Given the description of an element on the screen output the (x, y) to click on. 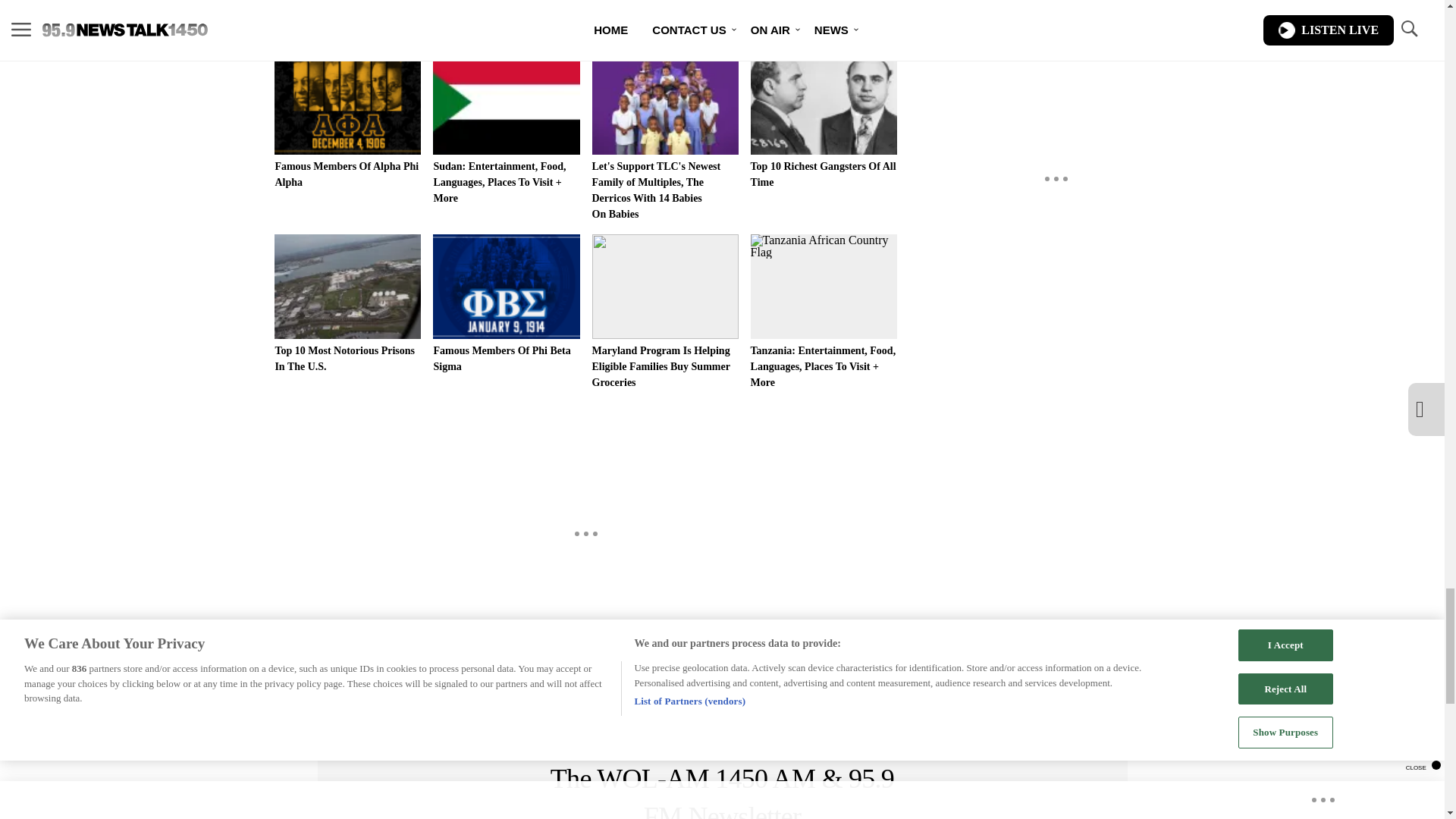
Famous Members Of Alpha Phi Alpha (347, 119)
Top 10 Most Notorious Prisons In The U.S. (347, 304)
Famous Members Of Phi Beta Sigma (505, 304)
Top 10 Richest Gangsters Of All Time (823, 119)
